Given the description of an element on the screen output the (x, y) to click on. 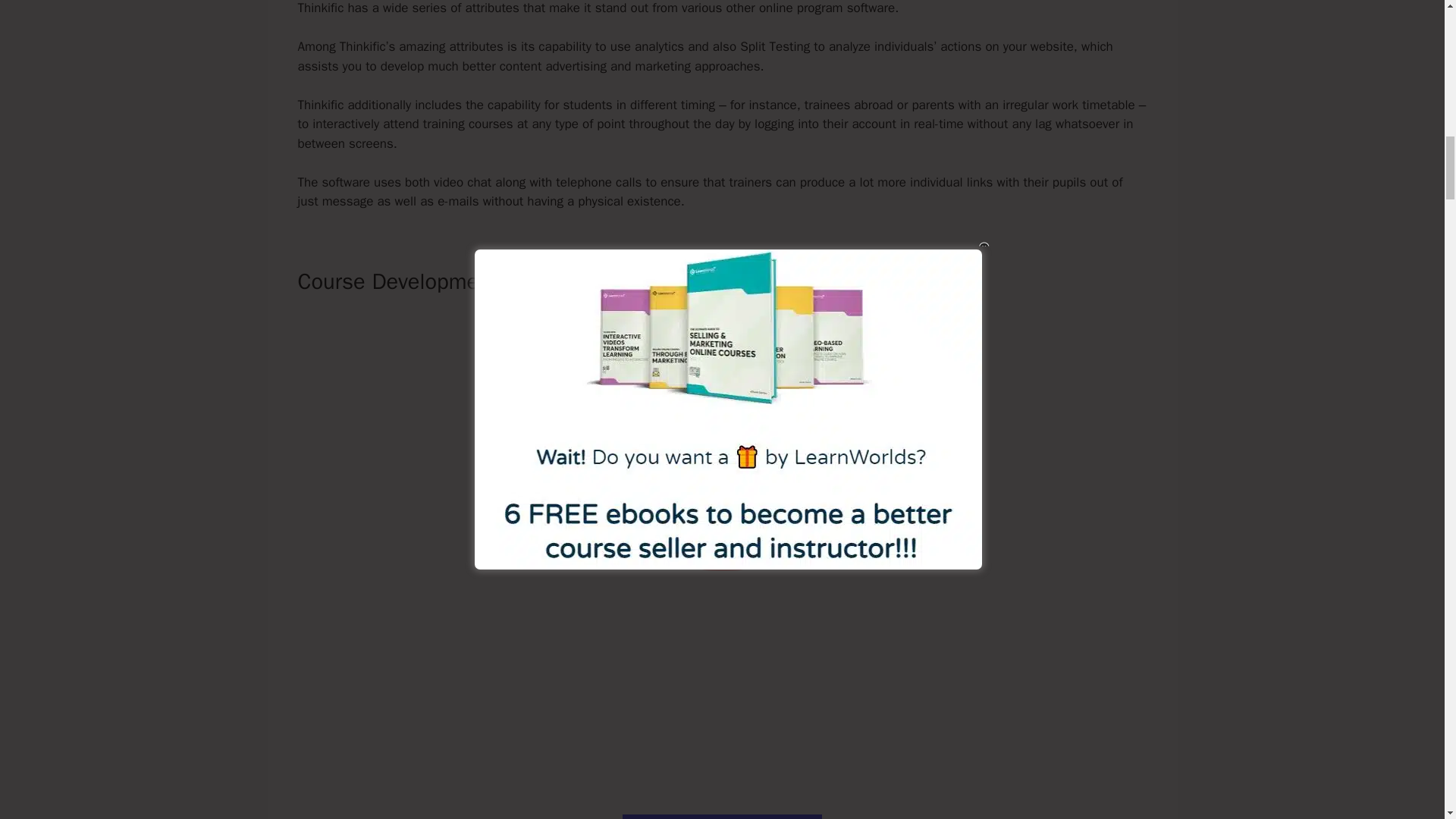
See Thinkific Demo (722, 816)
